Given the description of an element on the screen output the (x, y) to click on. 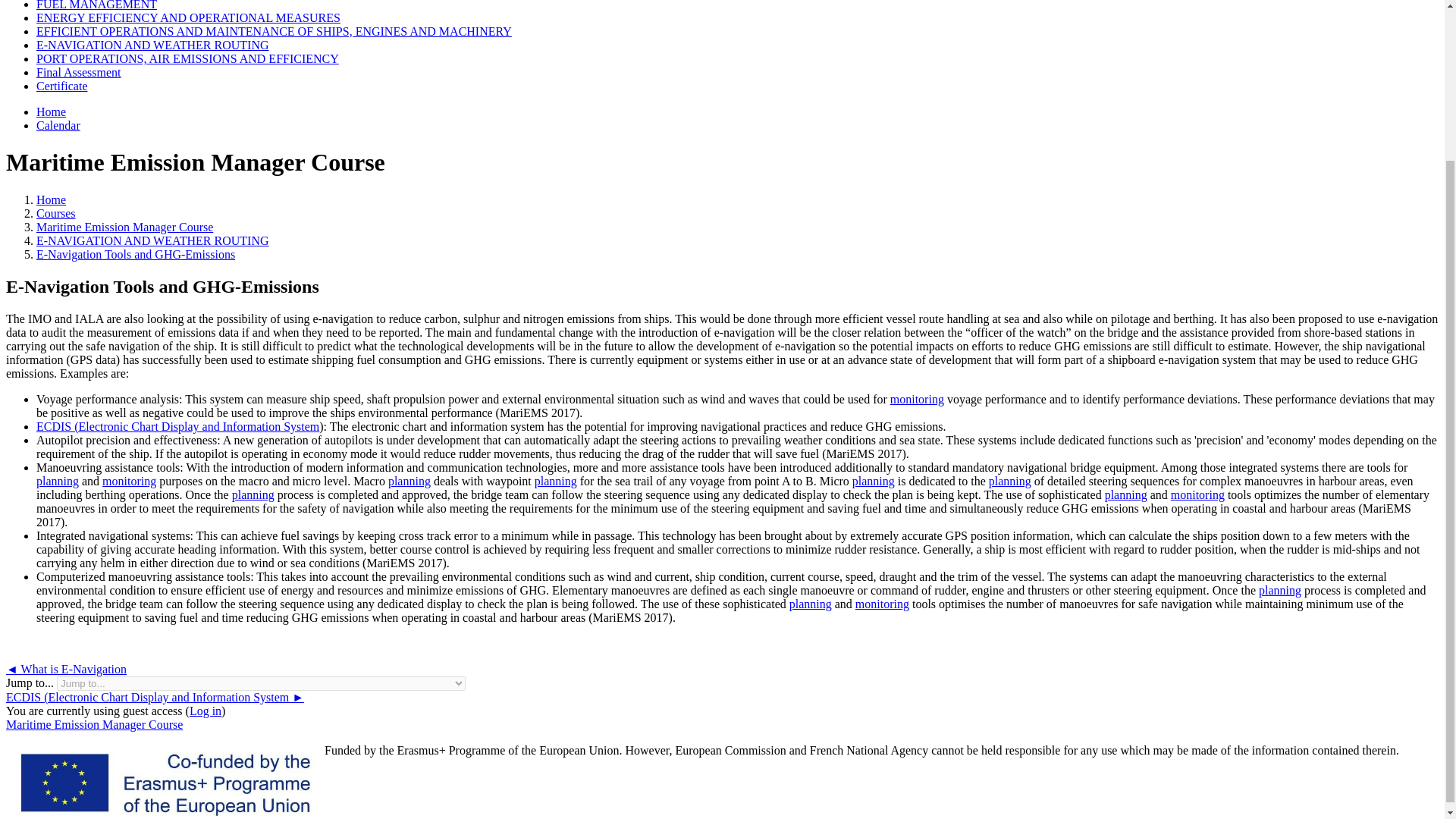
planning (1126, 494)
Planning (409, 481)
monitoring (916, 399)
planning (1280, 590)
planning (1009, 481)
Planning (810, 603)
Planning (1009, 481)
Planning (253, 494)
E-Navigation Tools and GHG-Emissions (135, 254)
E-NAVIGATION AND WEATHER ROUTING (152, 240)
